Given the description of an element on the screen output the (x, y) to click on. 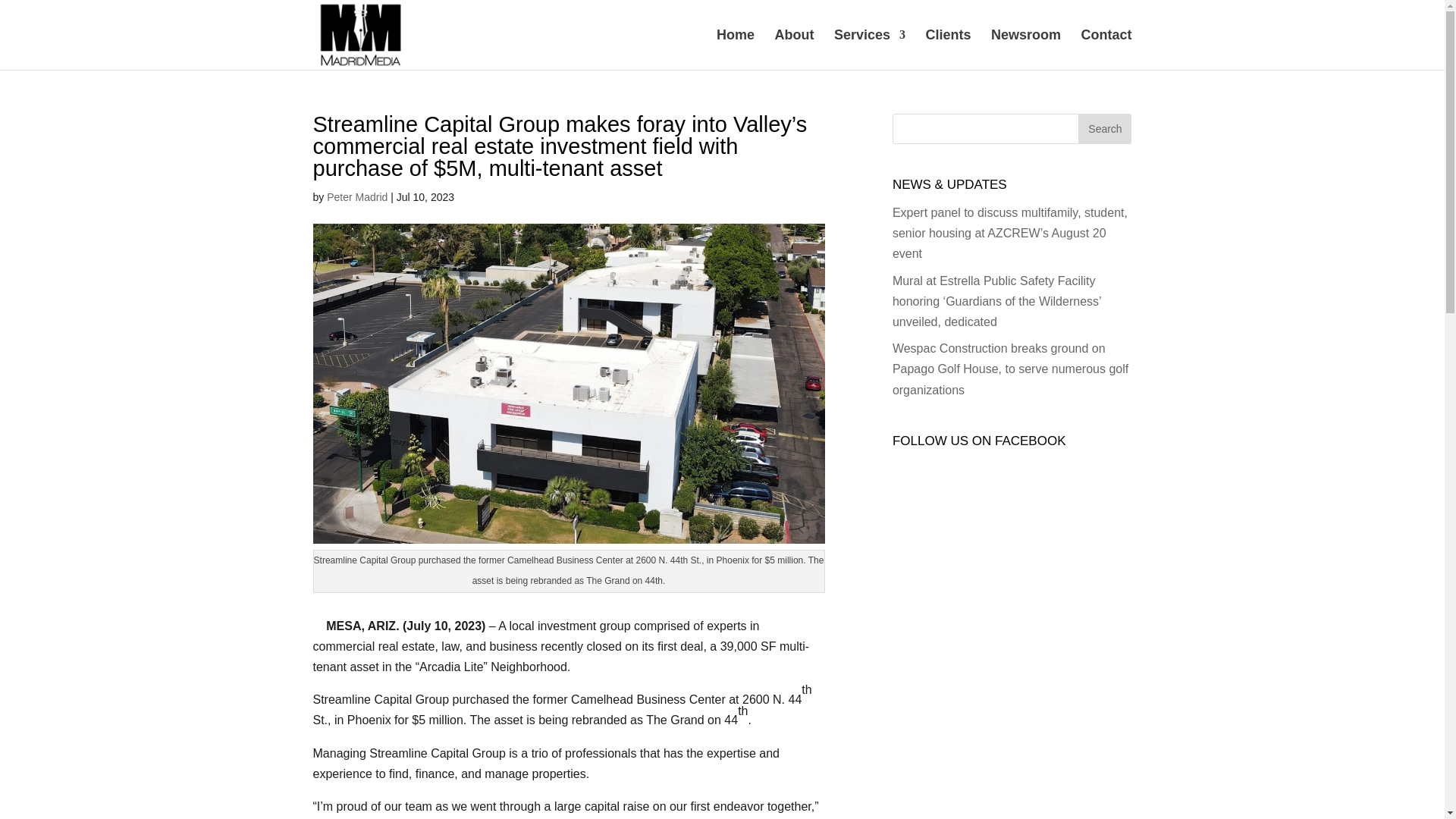
Contact (1106, 49)
Search (1104, 128)
Posts by Peter Madrid (356, 196)
Home (735, 49)
Clients (948, 49)
About (793, 49)
Newsroom (1026, 49)
Services (869, 49)
Peter Madrid (356, 196)
Search (1104, 128)
